Given the description of an element on the screen output the (x, y) to click on. 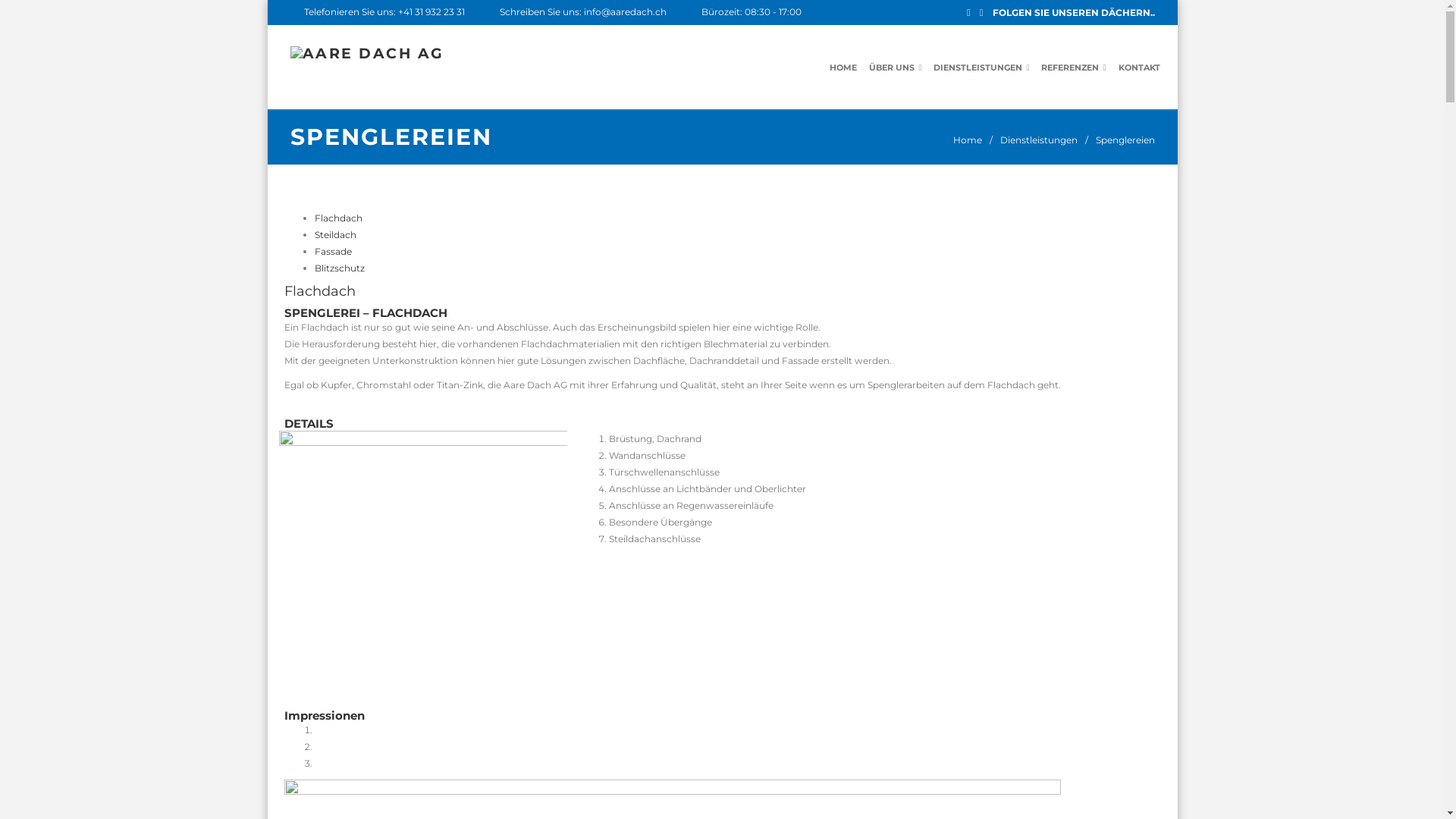
Spenglerei-Flachdach Element type: hover (423, 557)
Home Element type: text (966, 139)
Fassade Element type: text (332, 251)
Flachdach Element type: text (319, 290)
HOME Element type: text (842, 67)
Dienstleistungen Element type: text (1037, 139)
info@aaredach.ch Element type: text (624, 11)
REFERENZEN Element type: text (1073, 67)
DIENSTLEISTUNGEN Element type: text (981, 67)
Flachdach Element type: text (338, 217)
KONTAKT Element type: text (1138, 67)
Steildach Element type: text (335, 234)
AARE DACH AG Element type: hover (367, 53)
Blitzschutz Element type: text (339, 267)
